Given the description of an element on the screen output the (x, y) to click on. 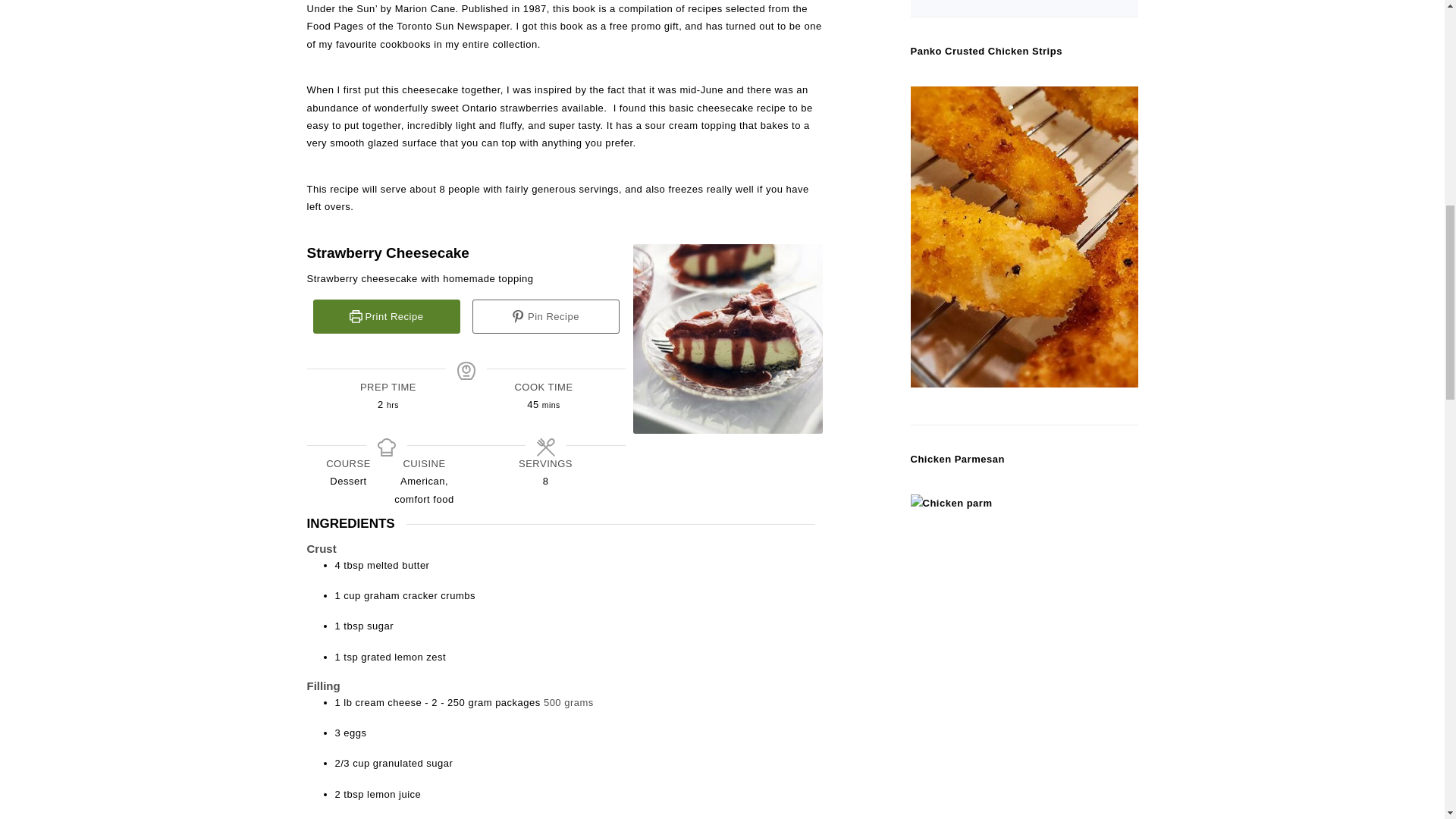
Panko Crusted Chicken Strips (985, 50)
Print Recipe (386, 316)
Pin Recipe (544, 316)
Chicken Parmesan (957, 459)
